Given the description of an element on the screen output the (x, y) to click on. 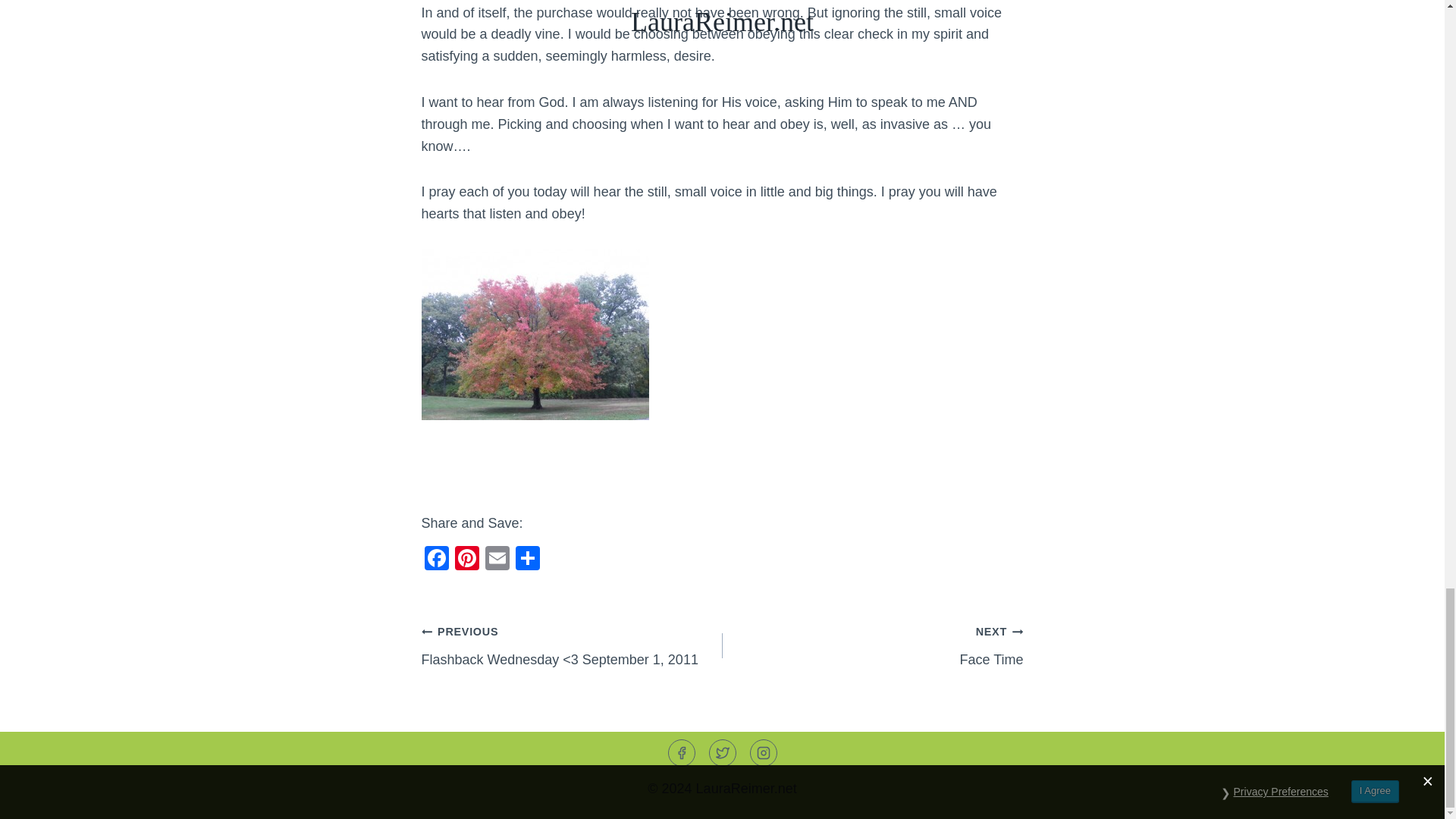
Facebook (436, 560)
Pinterest (466, 560)
Pinterest (466, 560)
Email (496, 560)
Email (496, 560)
Facebook (872, 644)
